Given the description of an element on the screen output the (x, y) to click on. 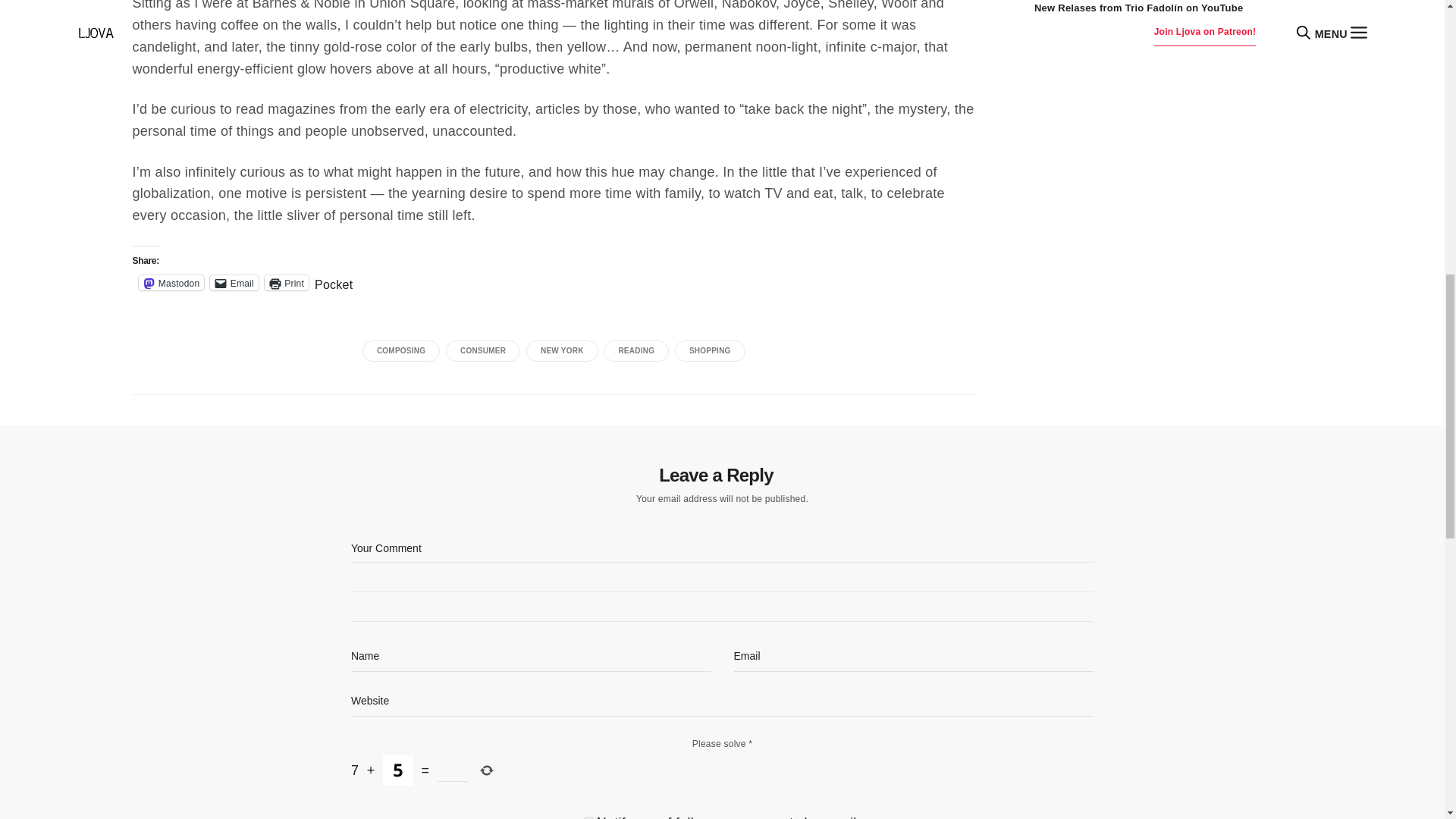
Click to share on Mastodon (171, 282)
Click to email a link to a friend (233, 282)
Click to print (286, 282)
